Given the description of an element on the screen output the (x, y) to click on. 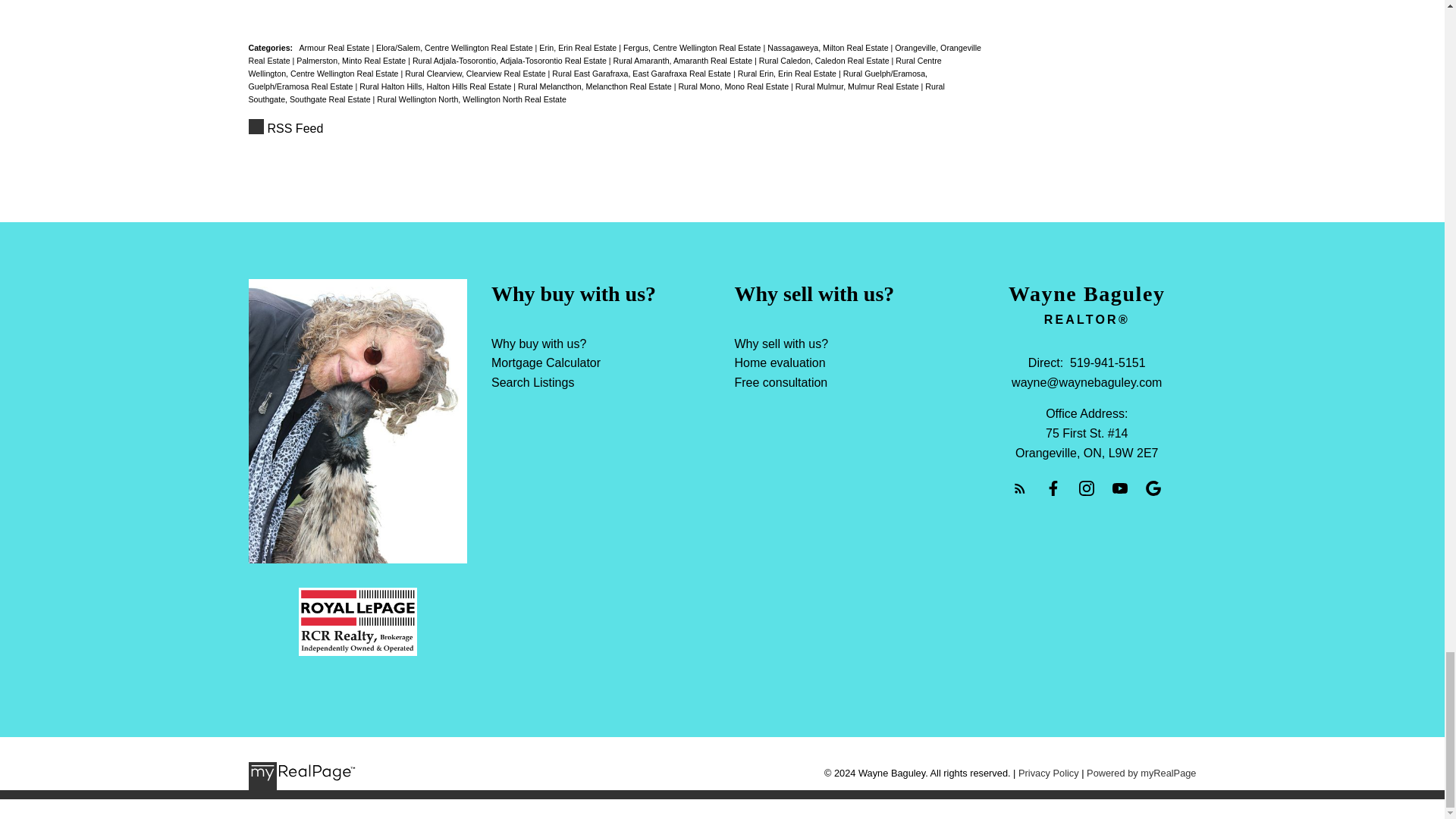
RSS (616, 128)
